Given the description of an element on the screen output the (x, y) to click on. 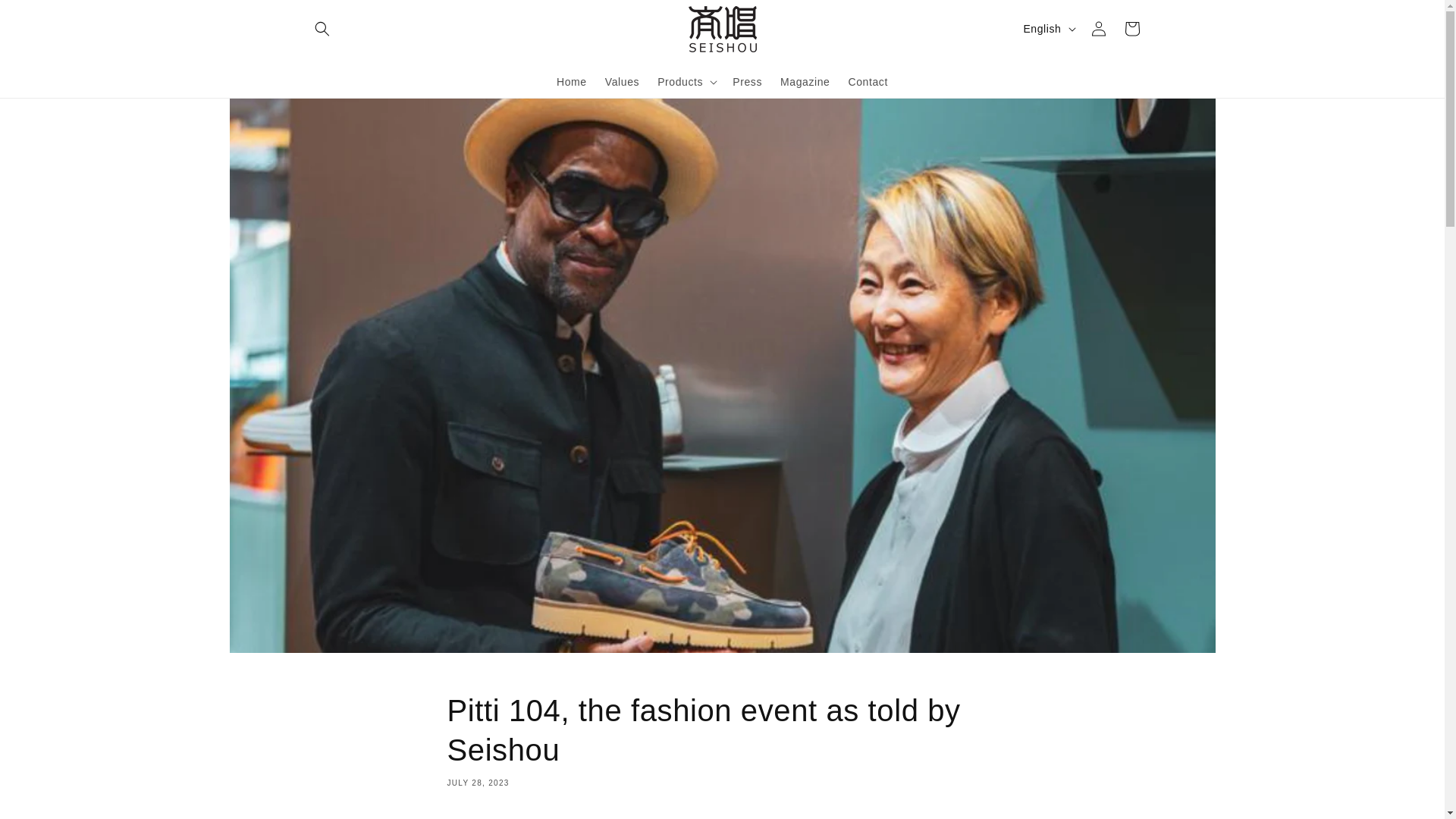
Home (571, 81)
Skip to content (45, 17)
Magazine (805, 81)
English (1047, 29)
Press (747, 81)
Cart (1131, 28)
Values (621, 81)
Contact (868, 81)
Log in (1098, 28)
